Given the description of an element on the screen output the (x, y) to click on. 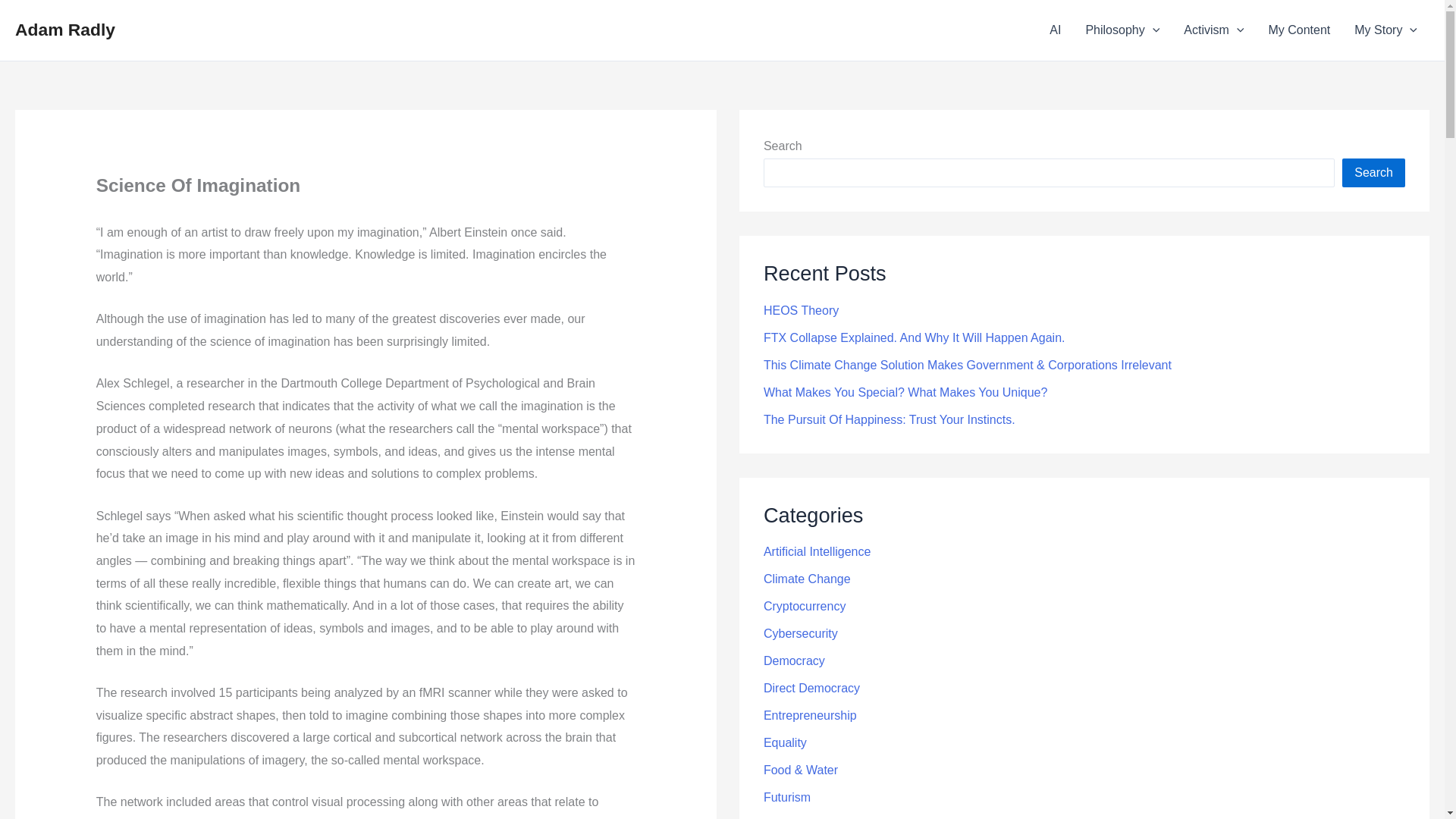
Activism (1213, 30)
My Story (1385, 30)
My Content (1298, 30)
Adam Radly (64, 29)
Philosophy (1122, 30)
